Given the description of an element on the screen output the (x, y) to click on. 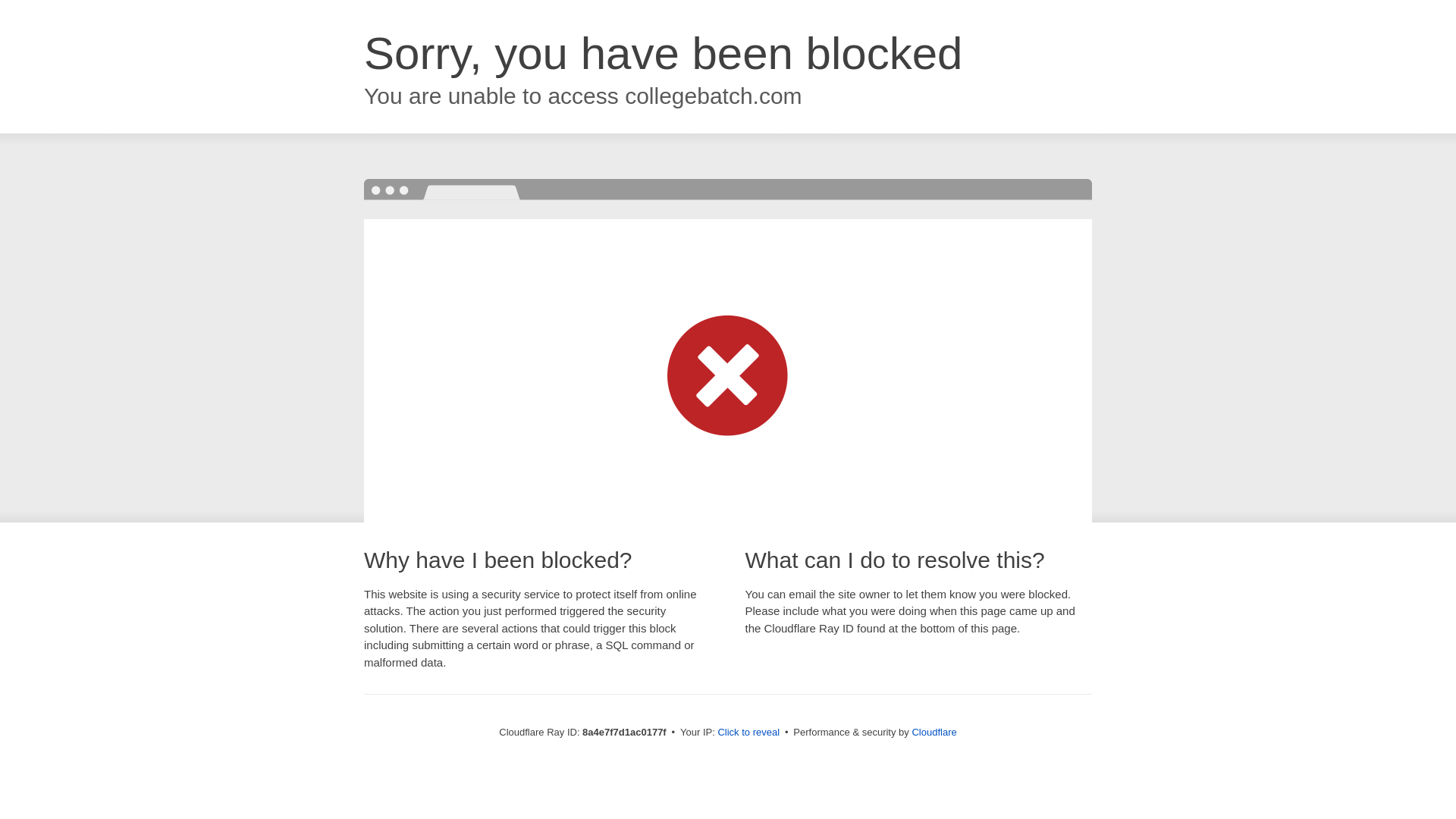
Cloudflare (933, 731)
Click to reveal (747, 732)
